Given the description of an element on the screen output the (x, y) to click on. 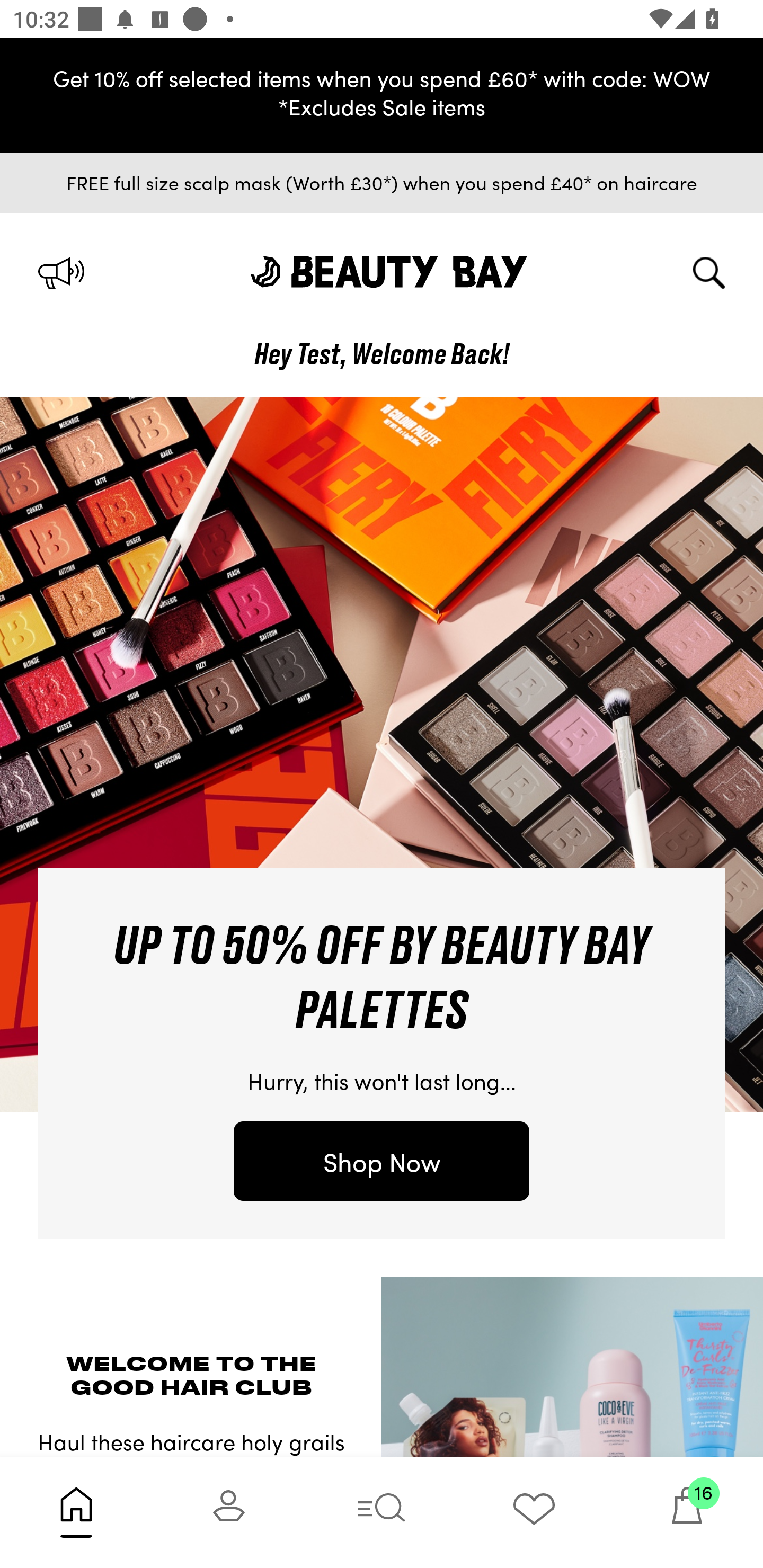
16 (686, 1512)
